Given the description of an element on the screen output the (x, y) to click on. 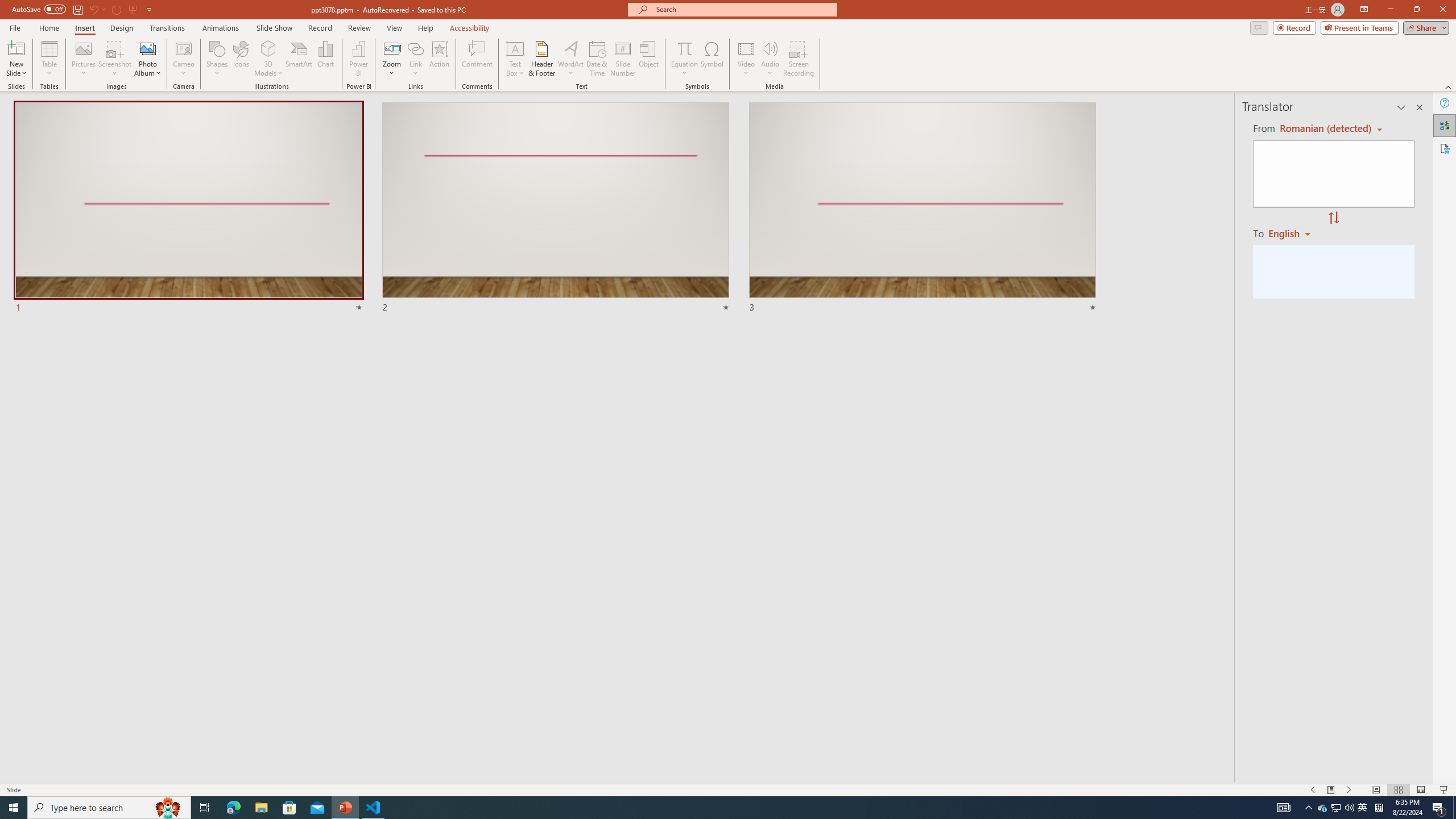
WordArt (570, 58)
Video (745, 58)
Symbol... (711, 58)
Header & Footer... (541, 58)
